Given the description of an element on the screen output the (x, y) to click on. 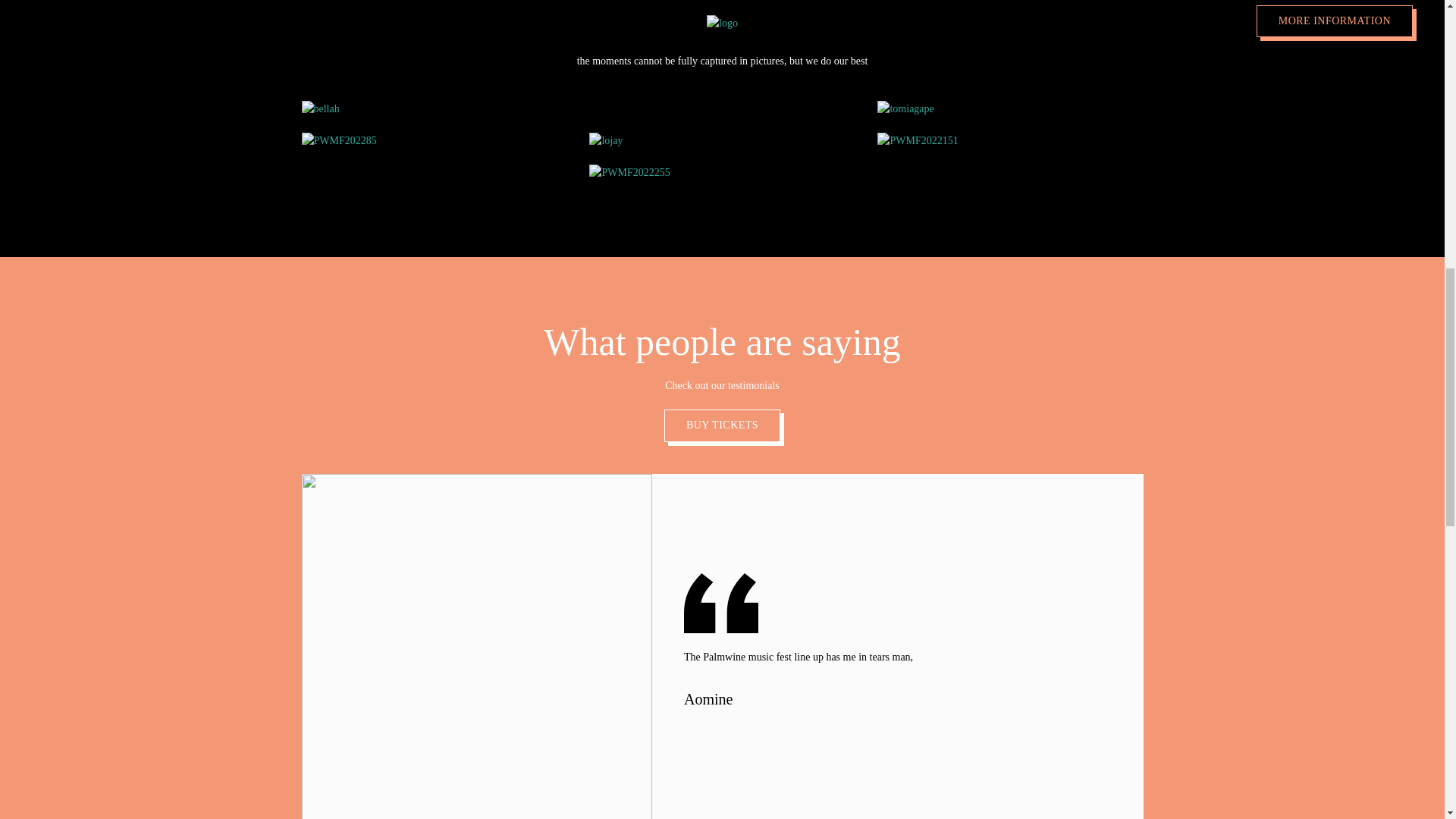
BUY TICKETS (721, 425)
